Given the description of an element on the screen output the (x, y) to click on. 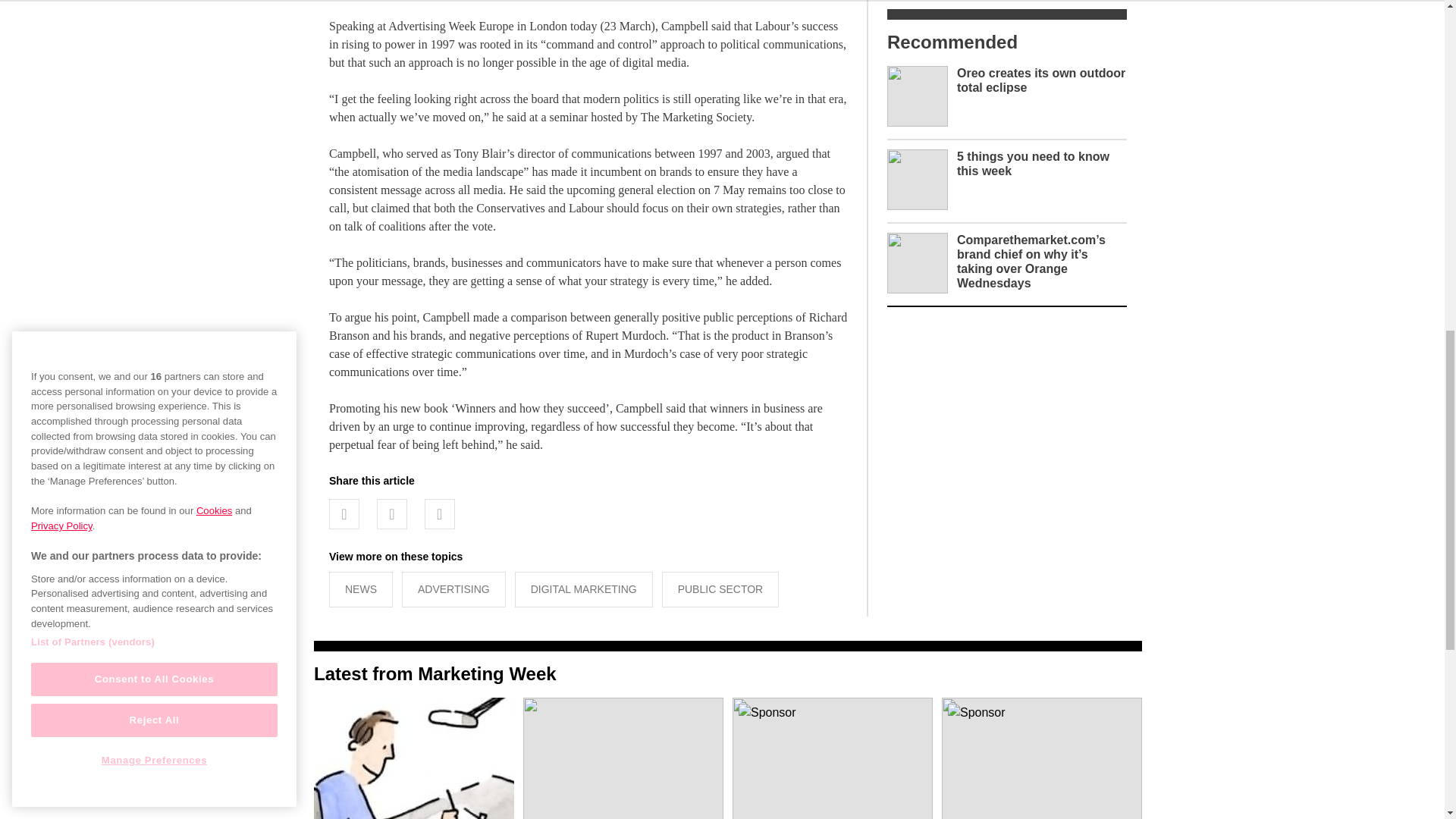
Latest from Marketing Week (435, 673)
PUBLIC SECTOR (720, 589)
NEWS (361, 589)
ADVERTISING (453, 589)
DIGITAL MARKETING (583, 589)
